Given the description of an element on the screen output the (x, y) to click on. 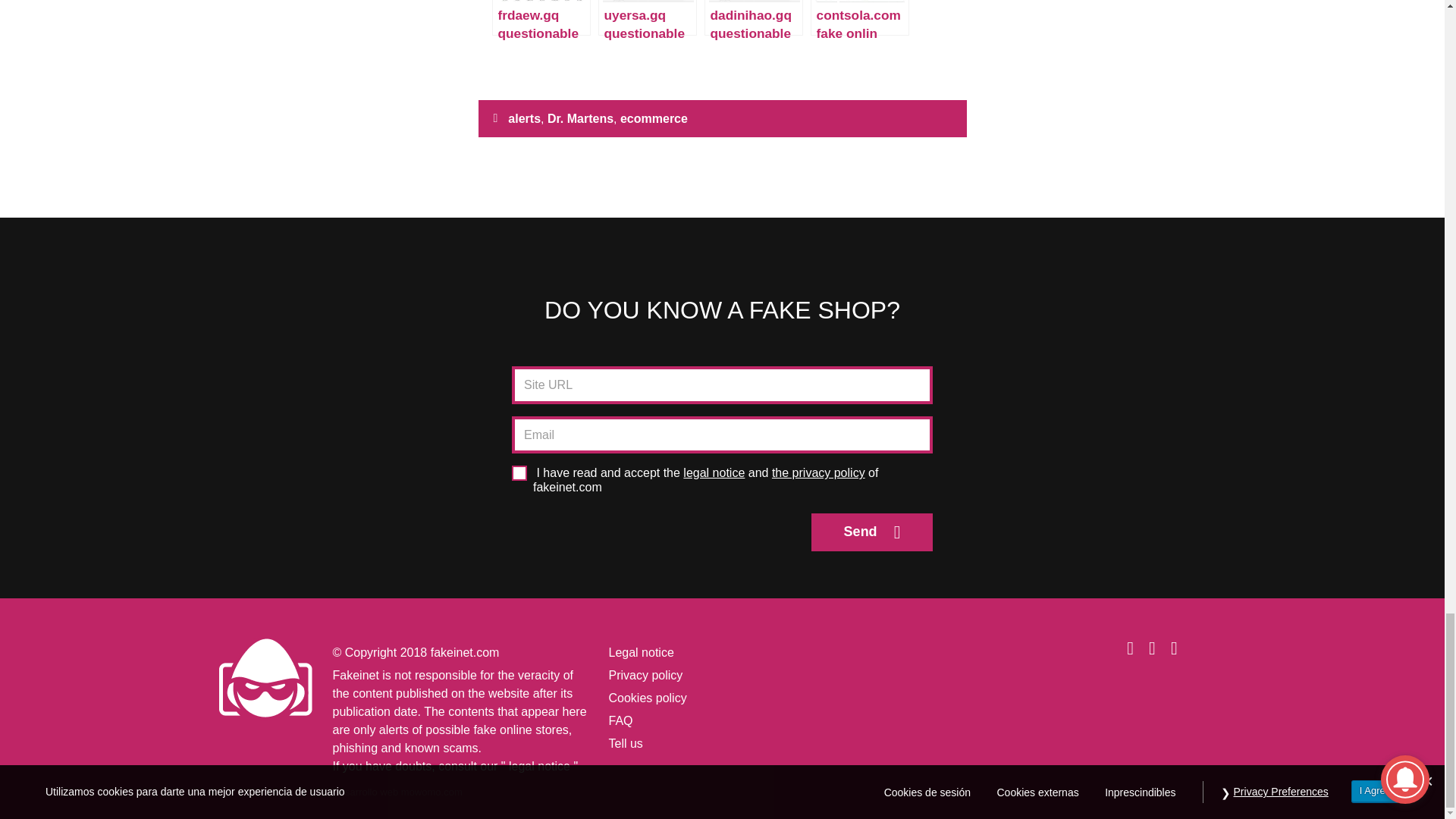
alerts (524, 119)
frdaew.gq questionable online store of Dr. Martens products (540, 17)
Privacy policy (645, 675)
FAQ (619, 720)
legal notice (713, 472)
contsola.com fake onlin shop for sneakers (859, 17)
legal notice (539, 766)
contsola.com fake onlin shop for sneakers (859, 17)
Cookies policy (646, 697)
Legal notice (640, 652)
Desarrollo web mowomo.com (396, 791)
Dr. Martens (579, 119)
Tell us (625, 743)
the privacy policy (817, 472)
frdaew.gq questionable online store of Dr. Martens products (540, 17)
